Given the description of an element on the screen output the (x, y) to click on. 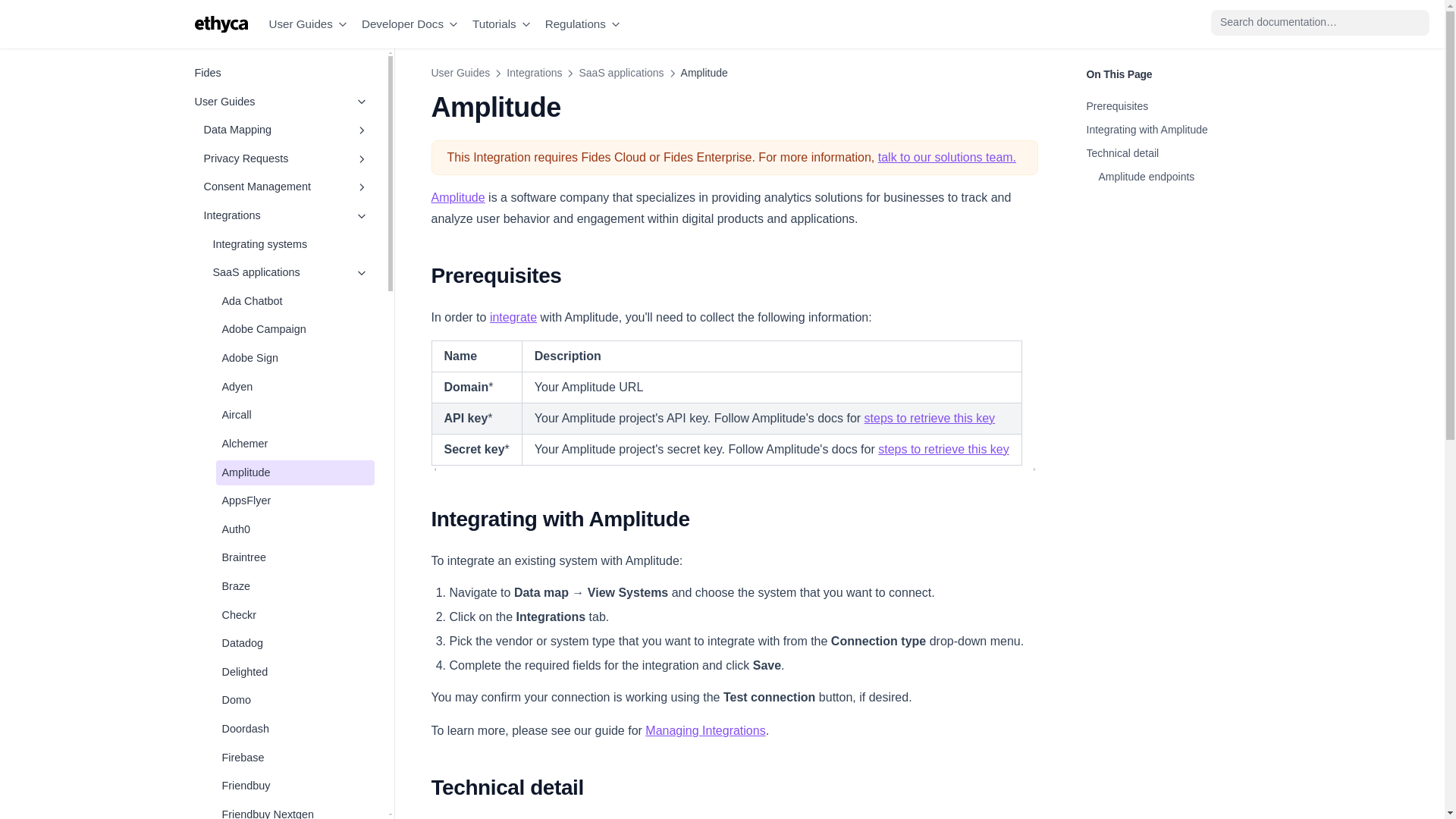
Privacy Requests (285, 158)
User Guides (280, 102)
Integrations (534, 73)
SaaS applications (290, 272)
Amplitude endpoints (1166, 177)
Integrating systems (290, 244)
Developer Docs (410, 24)
Prerequisites (1166, 106)
Adobe Campaign (294, 329)
